Given the description of an element on the screen output the (x, y) to click on. 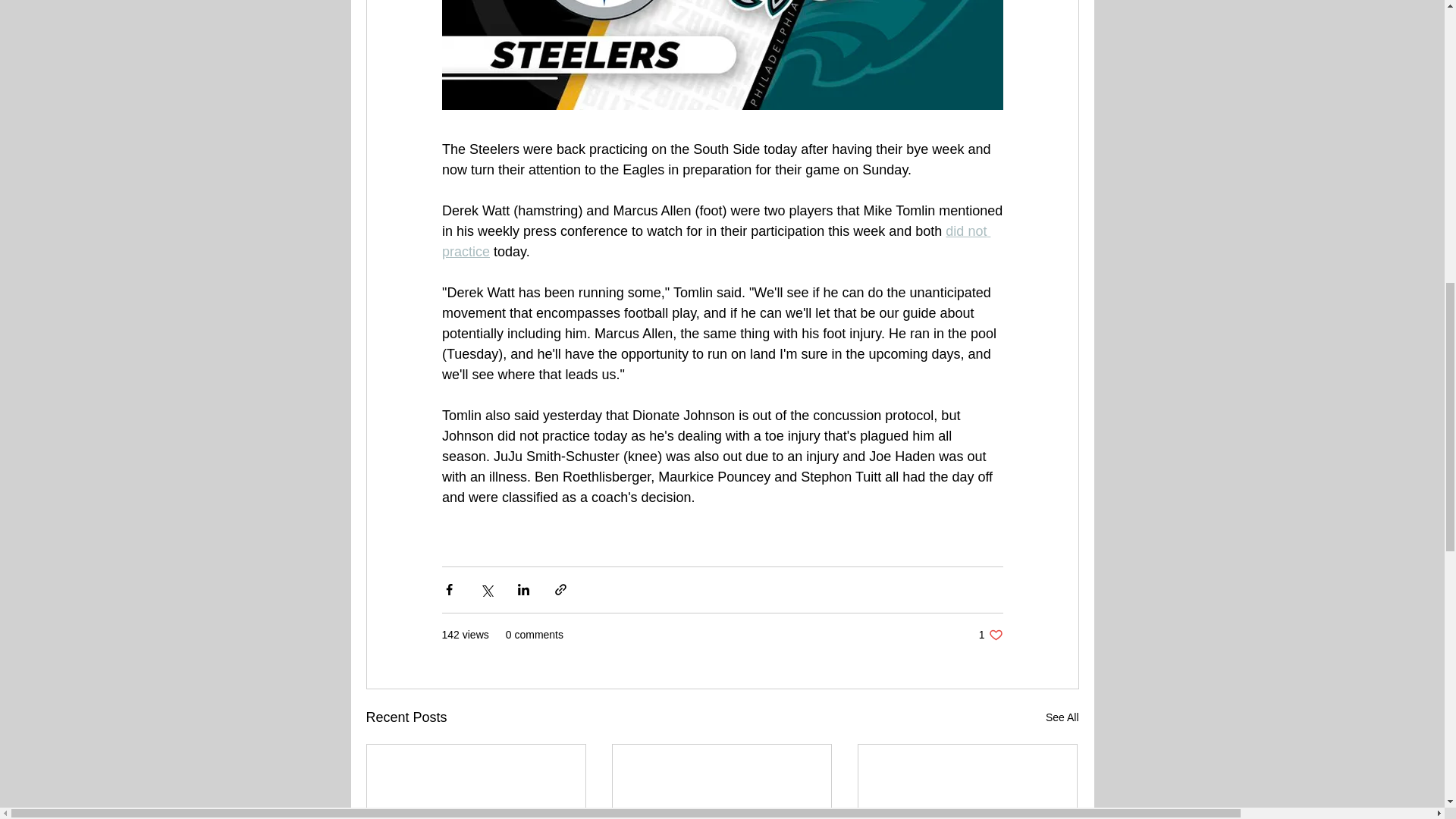
did not practice (715, 241)
See All (990, 635)
